Given the description of an element on the screen output the (x, y) to click on. 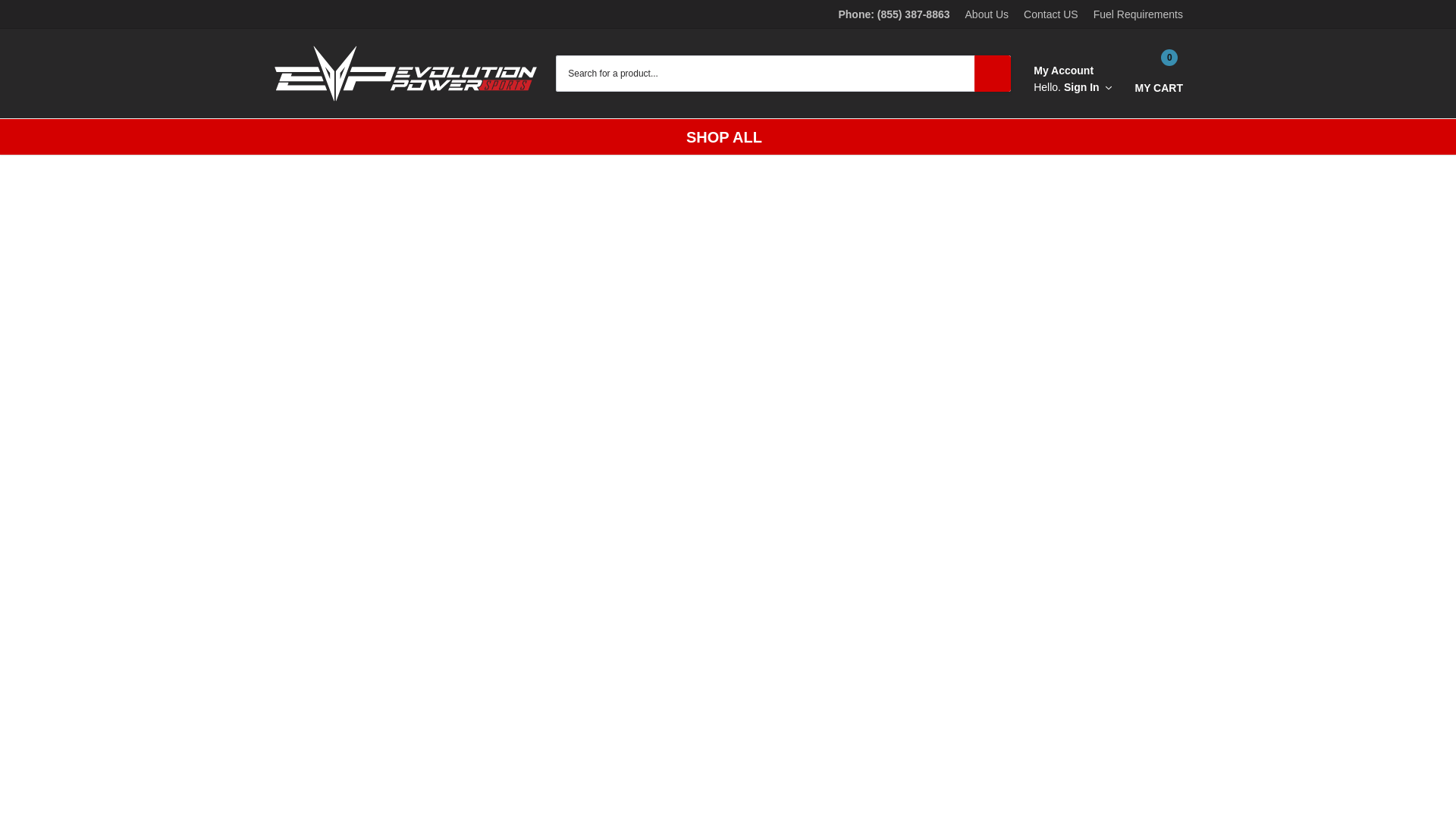
Fuel Requirements (1137, 14)
search (1158, 73)
About Us (992, 73)
Contact US (987, 14)
Sign In (1050, 14)
SHOP ALL (1088, 86)
